Given the description of an element on the screen output the (x, y) to click on. 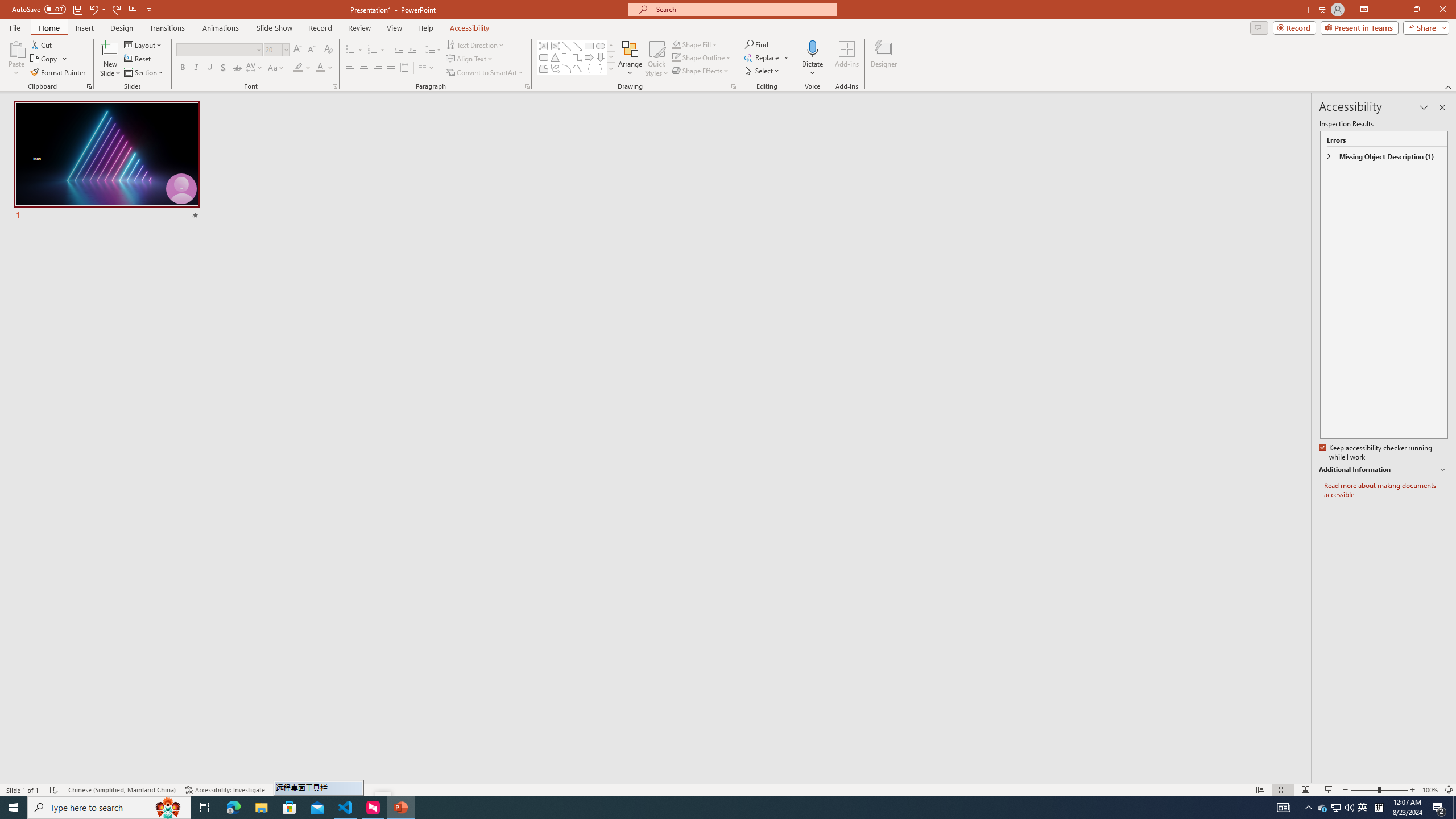
Text Highlight Color Yellow (297, 67)
Arc (566, 68)
Office Clipboard... (88, 85)
Select (762, 69)
Center (363, 67)
Underline (209, 67)
Font... (334, 85)
Arrow: Right (589, 57)
Decrease Font Size (310, 49)
Format Painter (58, 72)
